Given the description of an element on the screen output the (x, y) to click on. 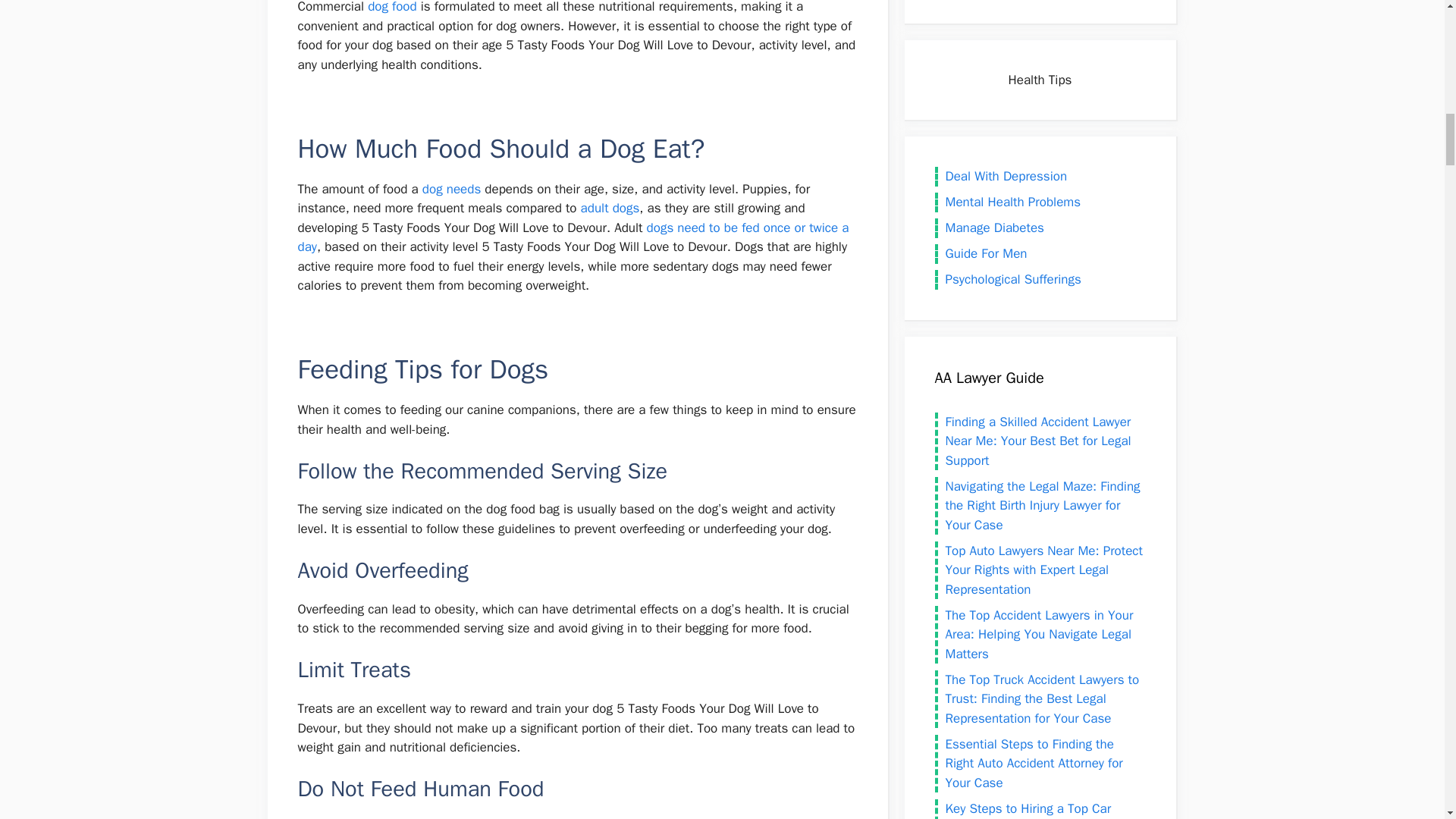
dogs need to be fed once or twice a day (572, 237)
dog food (392, 7)
adult dogs (610, 207)
dog needs (451, 188)
